Given the description of an element on the screen output the (x, y) to click on. 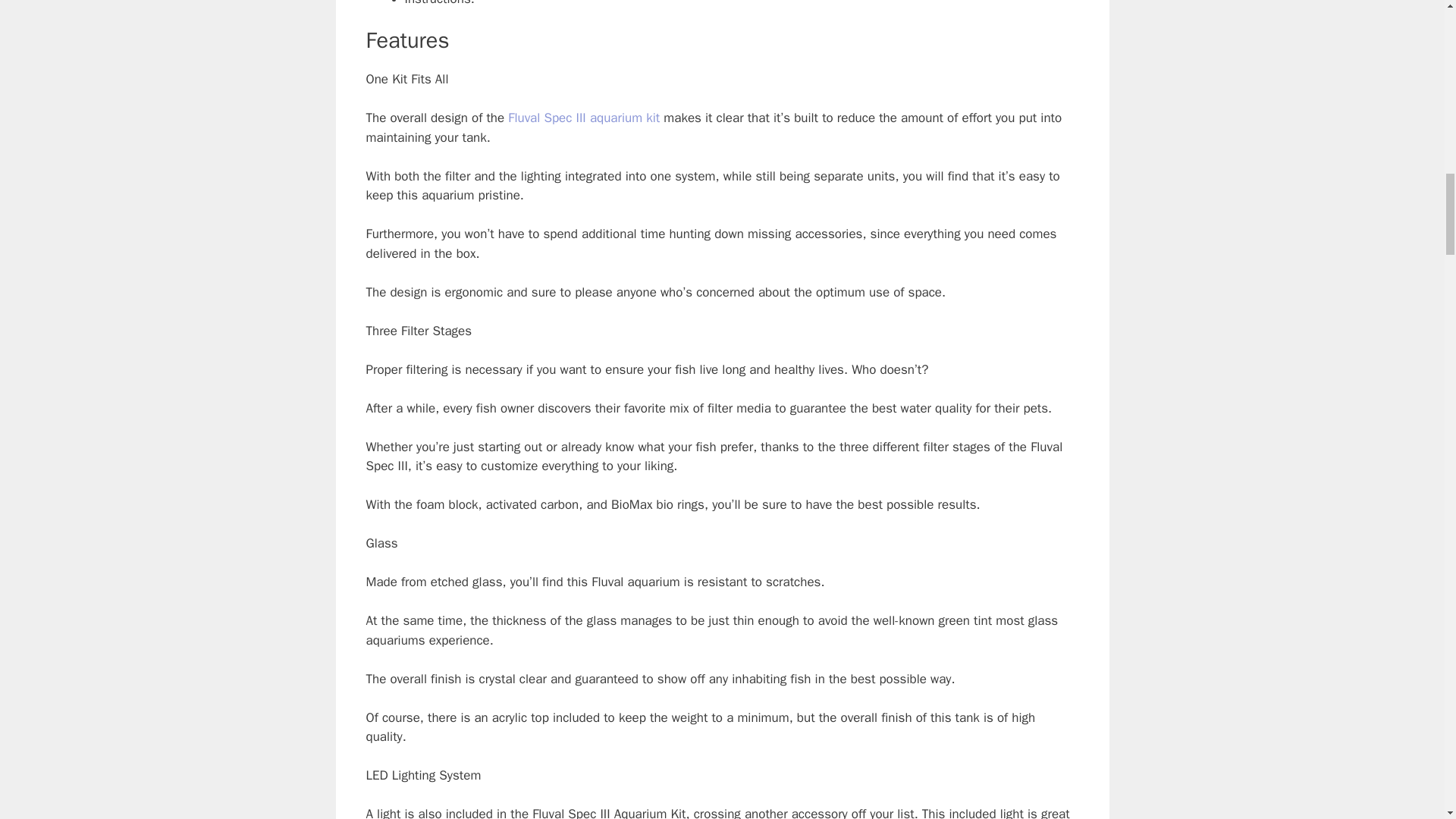
Fluval Spec III aquarium kit (583, 117)
